Given the description of an element on the screen output the (x, y) to click on. 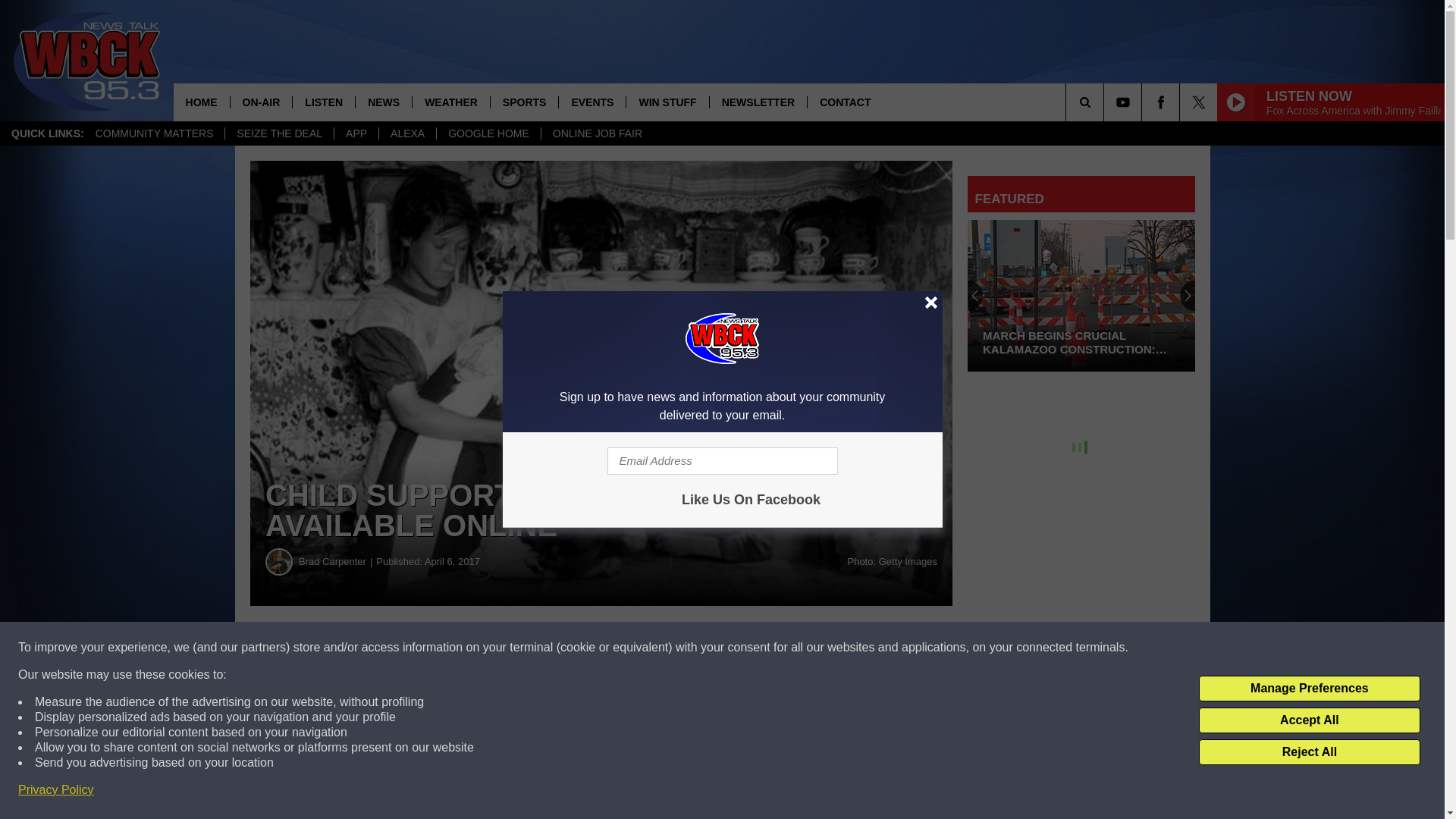
Reject All (1309, 751)
APP (355, 133)
Privacy Policy (55, 789)
ONLINE JOB FAIR (596, 133)
SEARCH (1106, 102)
HOME (201, 102)
NEWS (383, 102)
LISTEN (323, 102)
Share on Facebook (460, 647)
GOOGLE HOME (487, 133)
ALEXA (406, 133)
Manage Preferences (1309, 688)
Accept All (1309, 720)
Share on Twitter (741, 647)
SEIZE THE DEAL (278, 133)
